Given the description of an element on the screen output the (x, y) to click on. 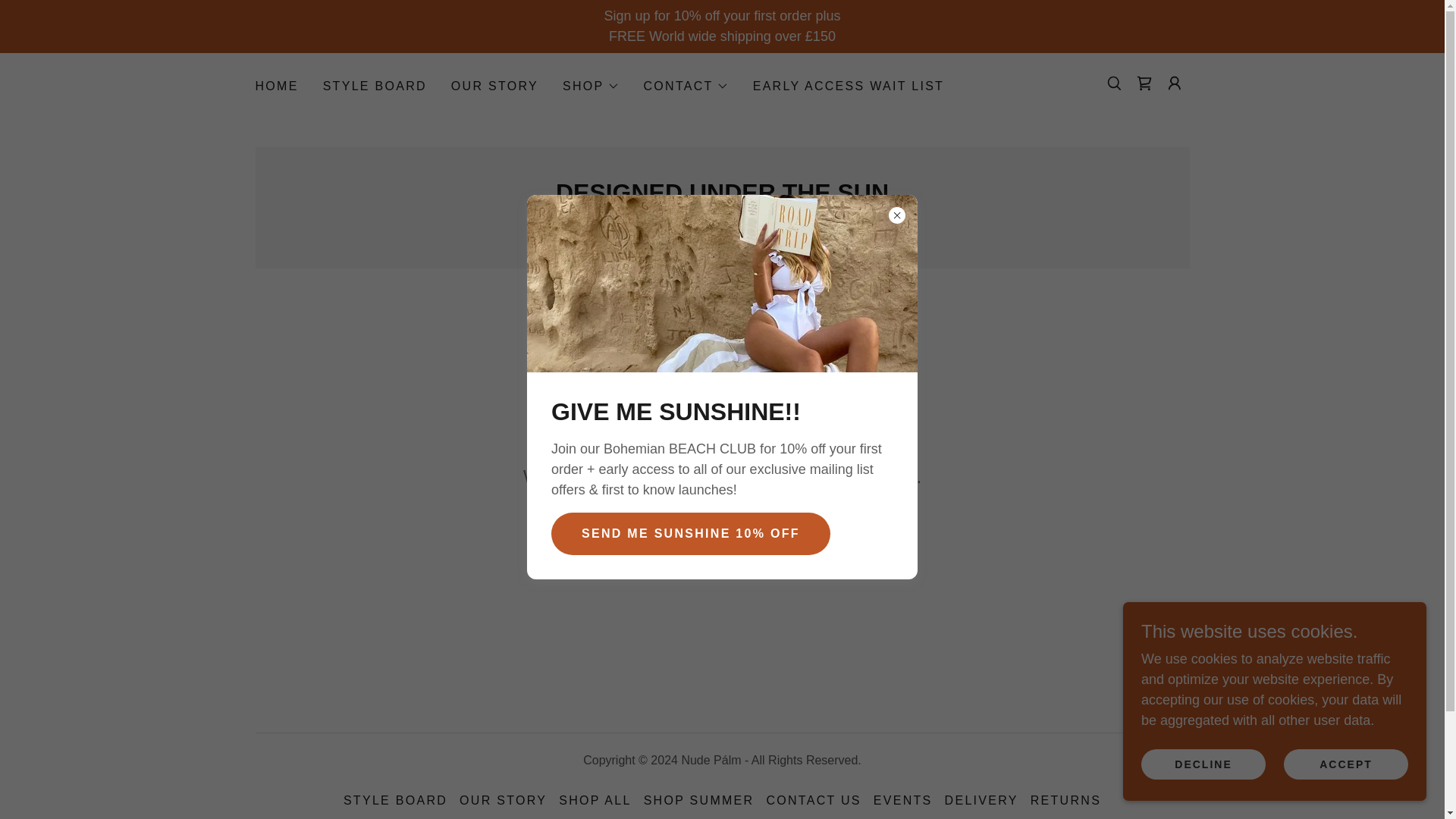
HOME (276, 85)
CONTACT (685, 85)
OUR STORY (494, 85)
EARLY ACCESS WAIT LIST (848, 85)
SHOP (591, 85)
STYLE BOARD (374, 85)
